Given the description of an element on the screen output the (x, y) to click on. 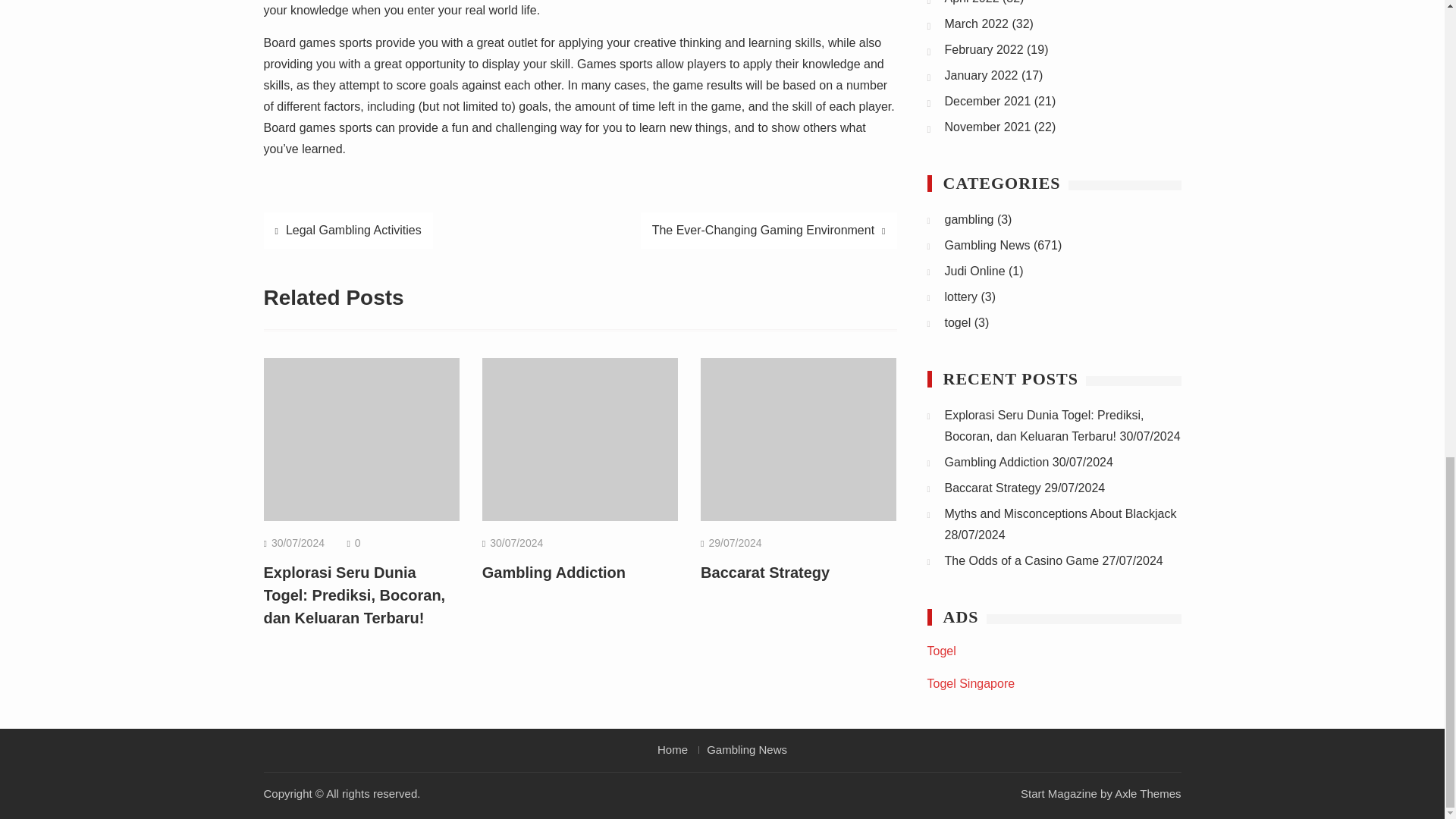
The Ever-Changing Gaming Environment (768, 230)
Gambling Addiction (553, 572)
Baccarat Strategy (764, 572)
Legal Gambling Activities (347, 230)
